Given the description of an element on the screen output the (x, y) to click on. 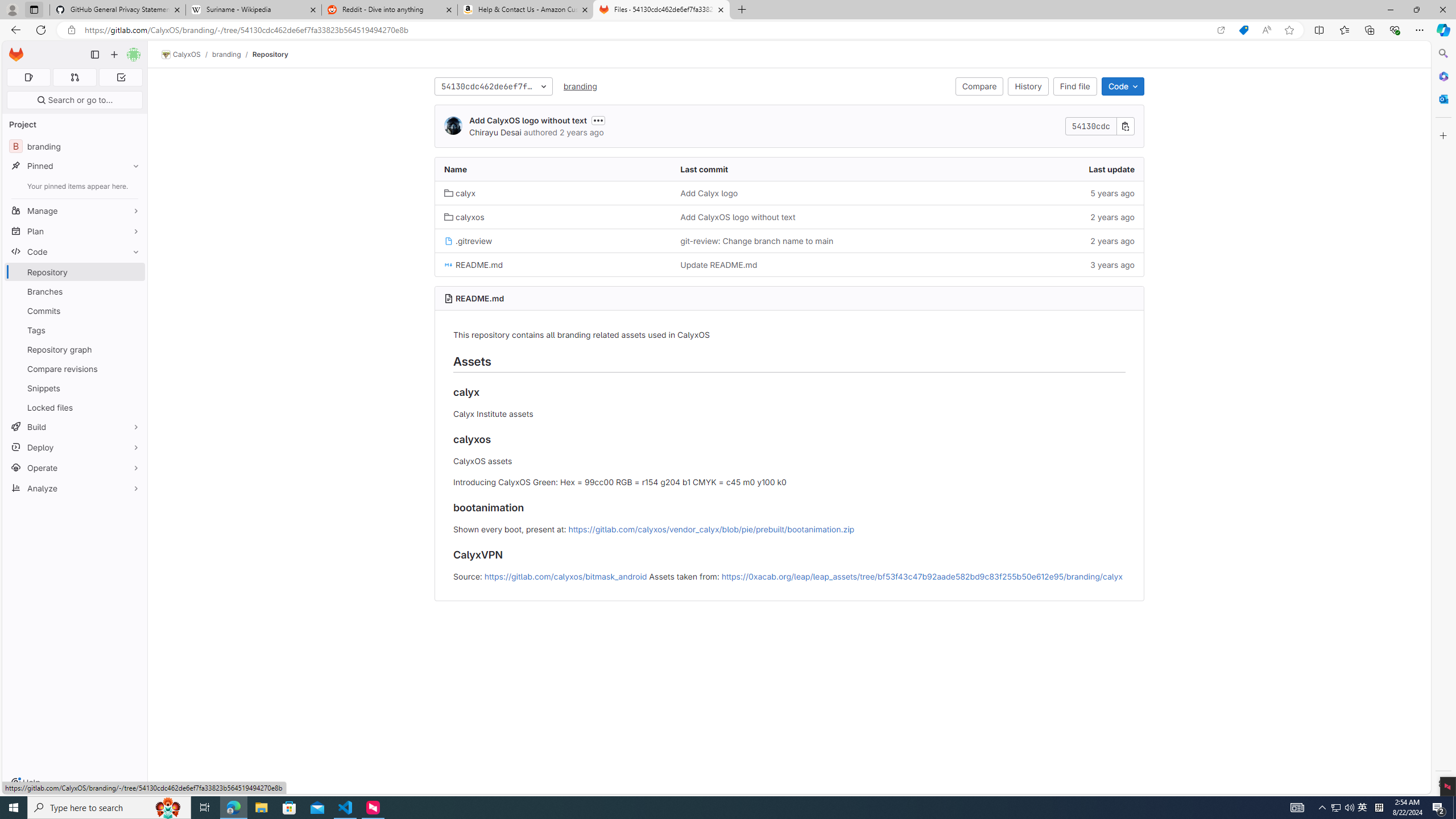
Operate (74, 467)
5 years ago (1025, 192)
Pin Compare revisions (132, 368)
git-review: Change branch name to main (789, 240)
54130cdc462de6ef7fa33823b564519494270e8b (493, 85)
Compare (979, 85)
Assigned issues 0 (28, 76)
branding (579, 85)
README.md (553, 264)
